Given the description of an element on the screen output the (x, y) to click on. 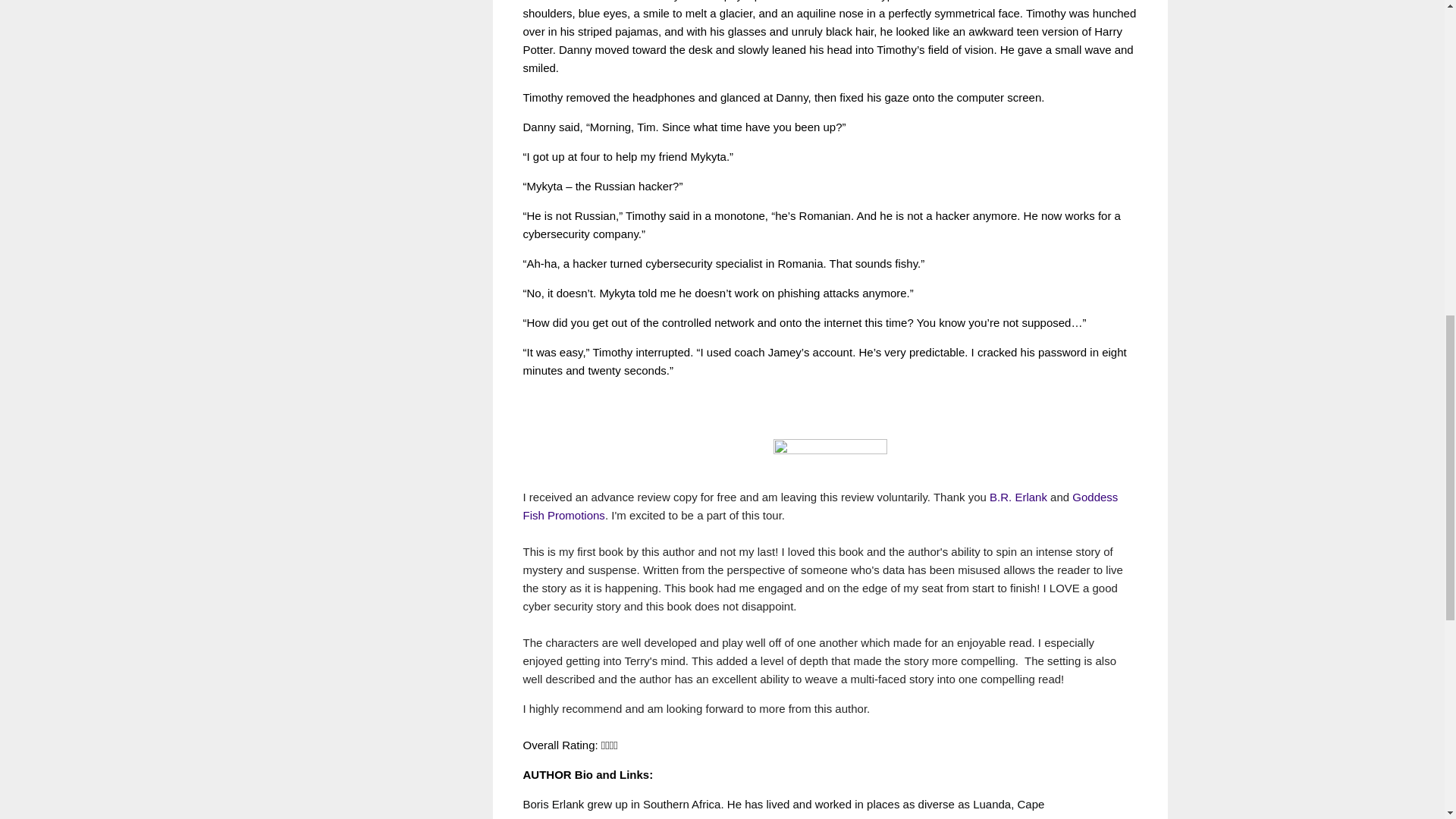
B.R. Erlank (1018, 495)
Goddess Fish Promotions (820, 504)
